Given the description of an element on the screen output the (x, y) to click on. 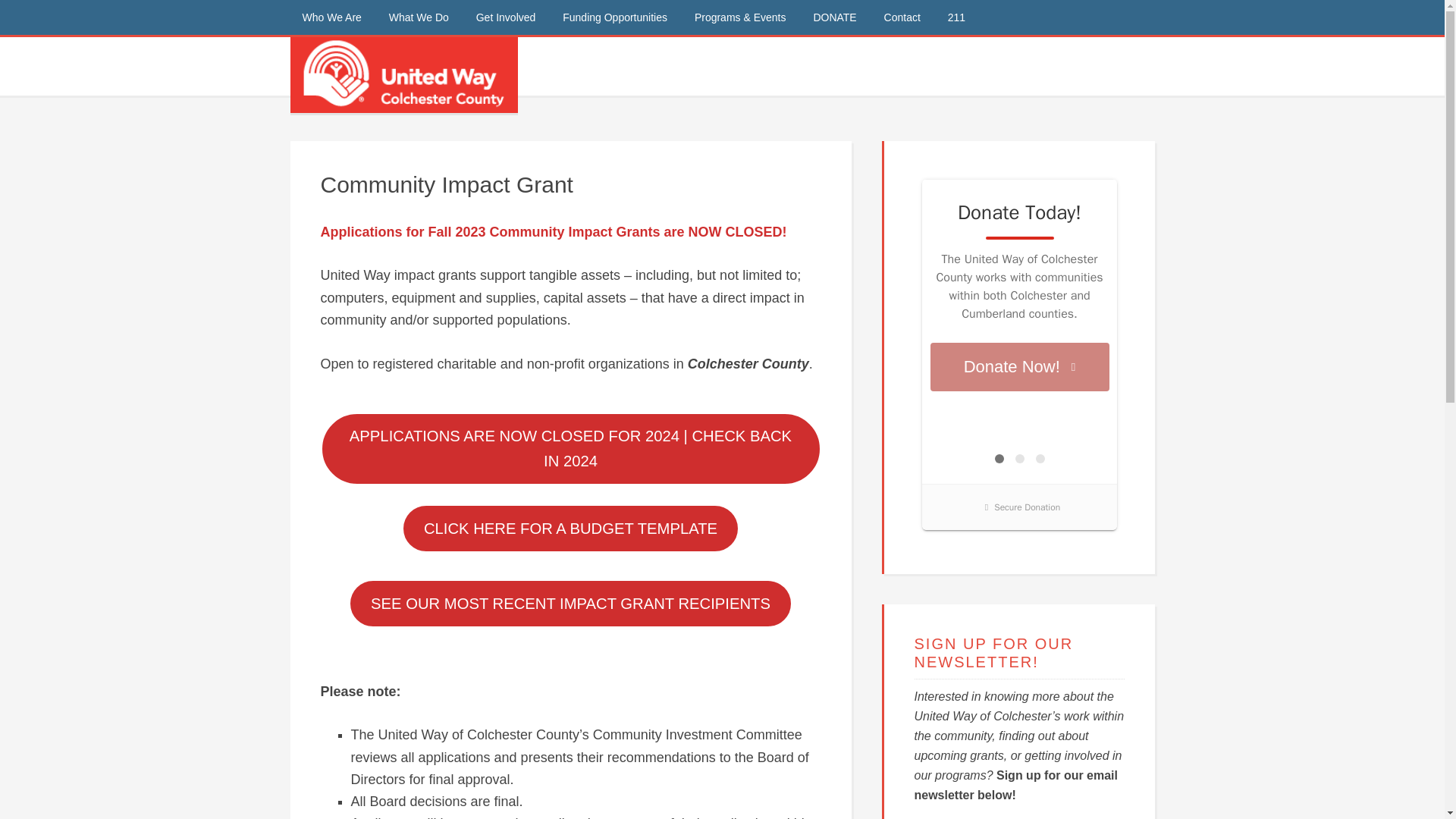
DONATE (833, 17)
Funding Opportunities (614, 17)
SEE OUR MOST RECENT IMPACT GRANT RECIPIENTS (570, 603)
Who We Are (330, 17)
What We Do (419, 17)
UNITED WAY COLCHESTER COUNTY (402, 74)
211 (956, 17)
Get Involved (506, 17)
CLICK HERE FOR A BUDGET TEMPLATE (570, 528)
Contact (902, 17)
